Given the description of an element on the screen output the (x, y) to click on. 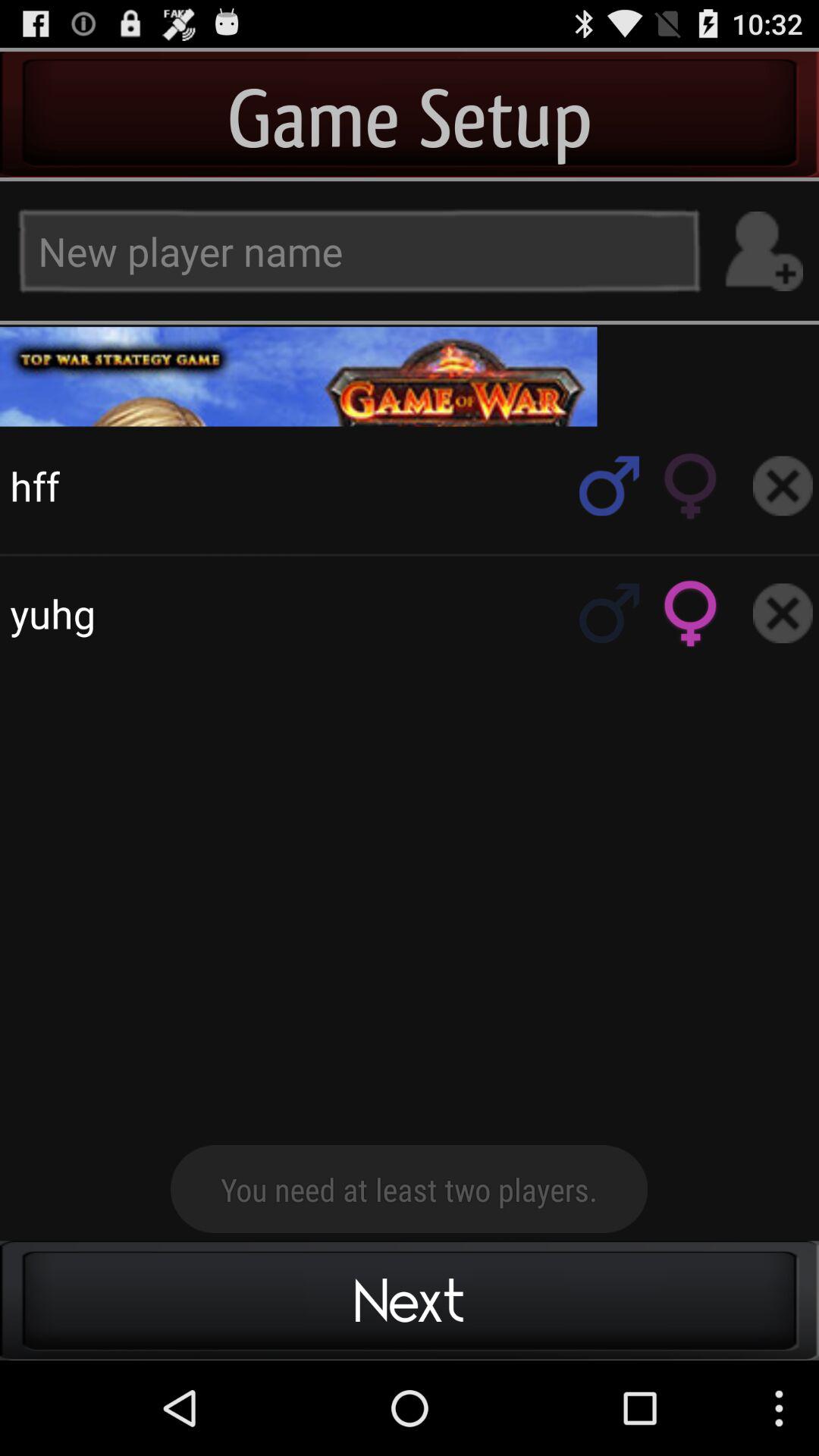
select gender (609, 485)
